Given the description of an element on the screen output the (x, y) to click on. 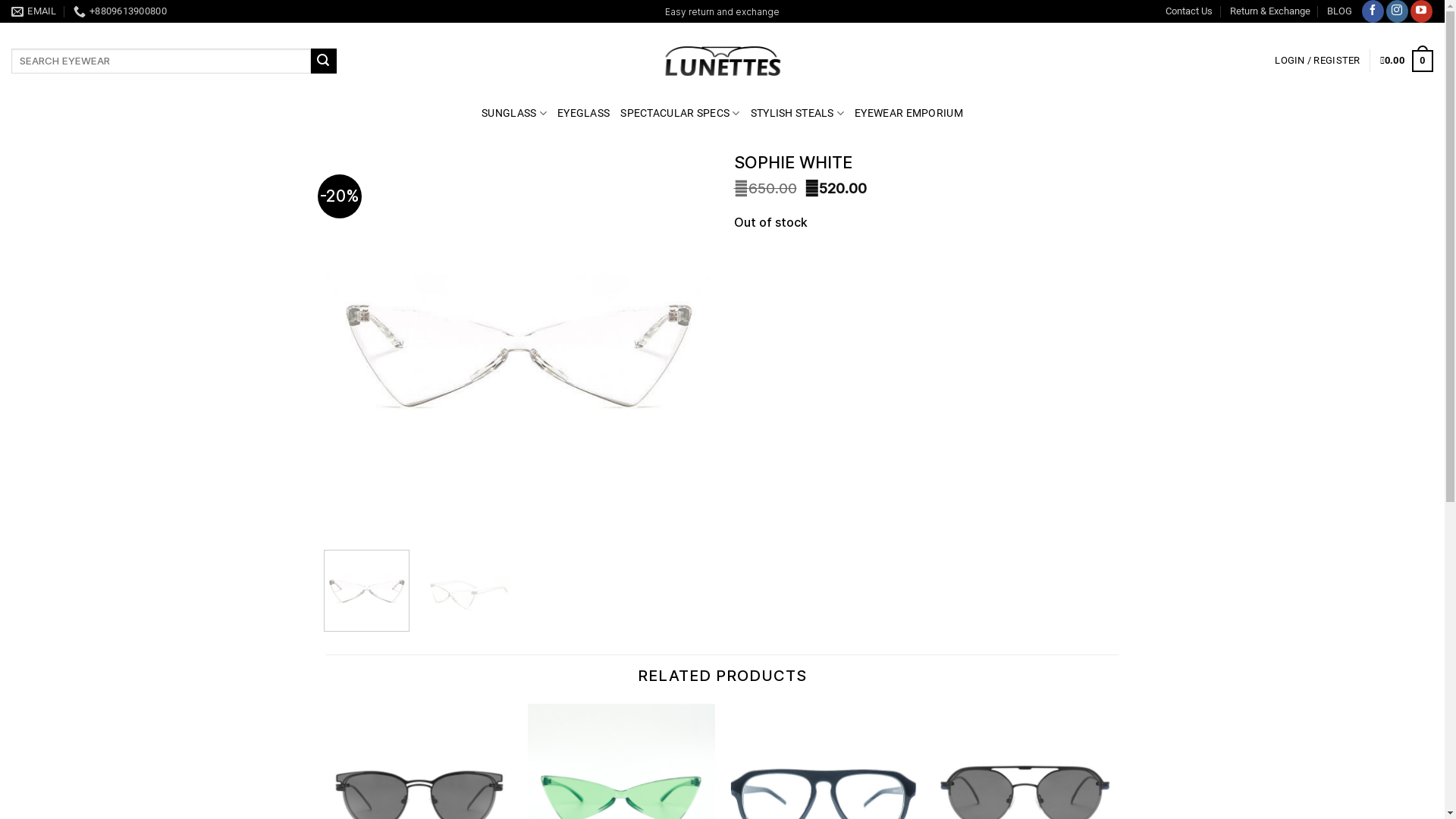
SPECTACULAR SPECS Element type: text (679, 113)
sophie-transparent-front Element type: hover (517, 344)
EYEWEAR EMPORIUM Element type: text (908, 113)
Follow on YouTube Element type: hover (1421, 11)
Follow on Facebook Element type: hover (1372, 11)
STYLISH STEALS Element type: text (797, 113)
Return & Exchange Element type: text (1270, 11)
Skip to content Element type: text (0, 0)
Search Element type: text (323, 61)
EMAIL Element type: text (33, 11)
Contact Us Element type: text (1188, 11)
Follow on Instagram Element type: hover (1397, 11)
+8809613900800 Element type: text (119, 11)
Lunettes - See life shine Element type: hover (722, 60)
Sophie White 1 LN_1354 Element type: hover (467, 592)
SUNGLASS Element type: text (513, 113)
BLOG Element type: text (1339, 11)
LOGIN / REGISTER Element type: text (1316, 60)
EYEGLASS Element type: text (583, 113)
